Given the description of an element on the screen output the (x, y) to click on. 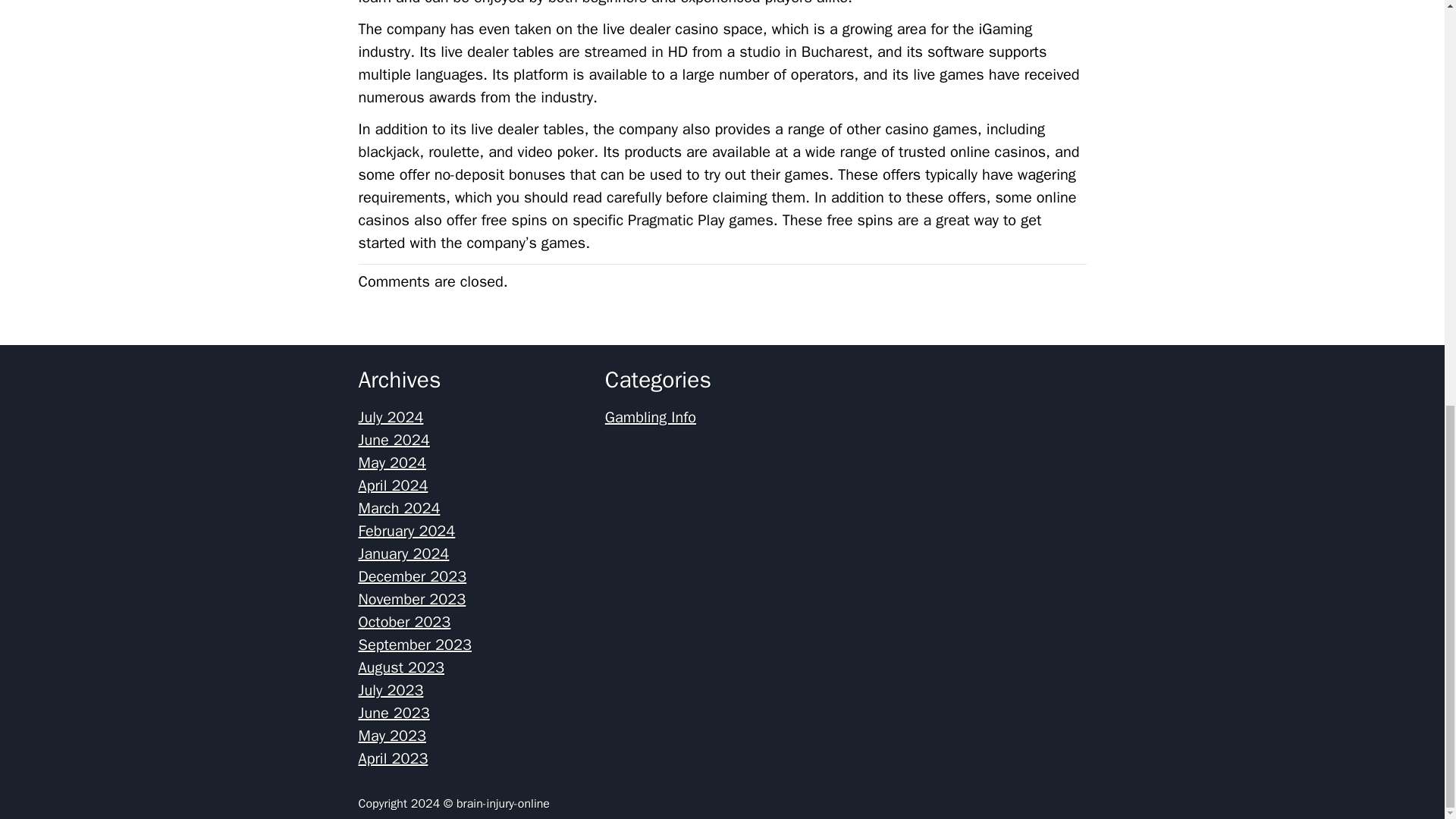
April 2024 (393, 485)
June 2024 (393, 439)
July 2024 (390, 416)
February 2024 (406, 530)
October 2023 (403, 621)
June 2023 (393, 712)
May 2024 (392, 462)
Gambling Info (650, 416)
May 2023 (392, 735)
March 2024 (398, 507)
December 2023 (411, 576)
September 2023 (414, 644)
August 2023 (401, 667)
April 2023 (393, 758)
July 2023 (390, 690)
